Given the description of an element on the screen output the (x, y) to click on. 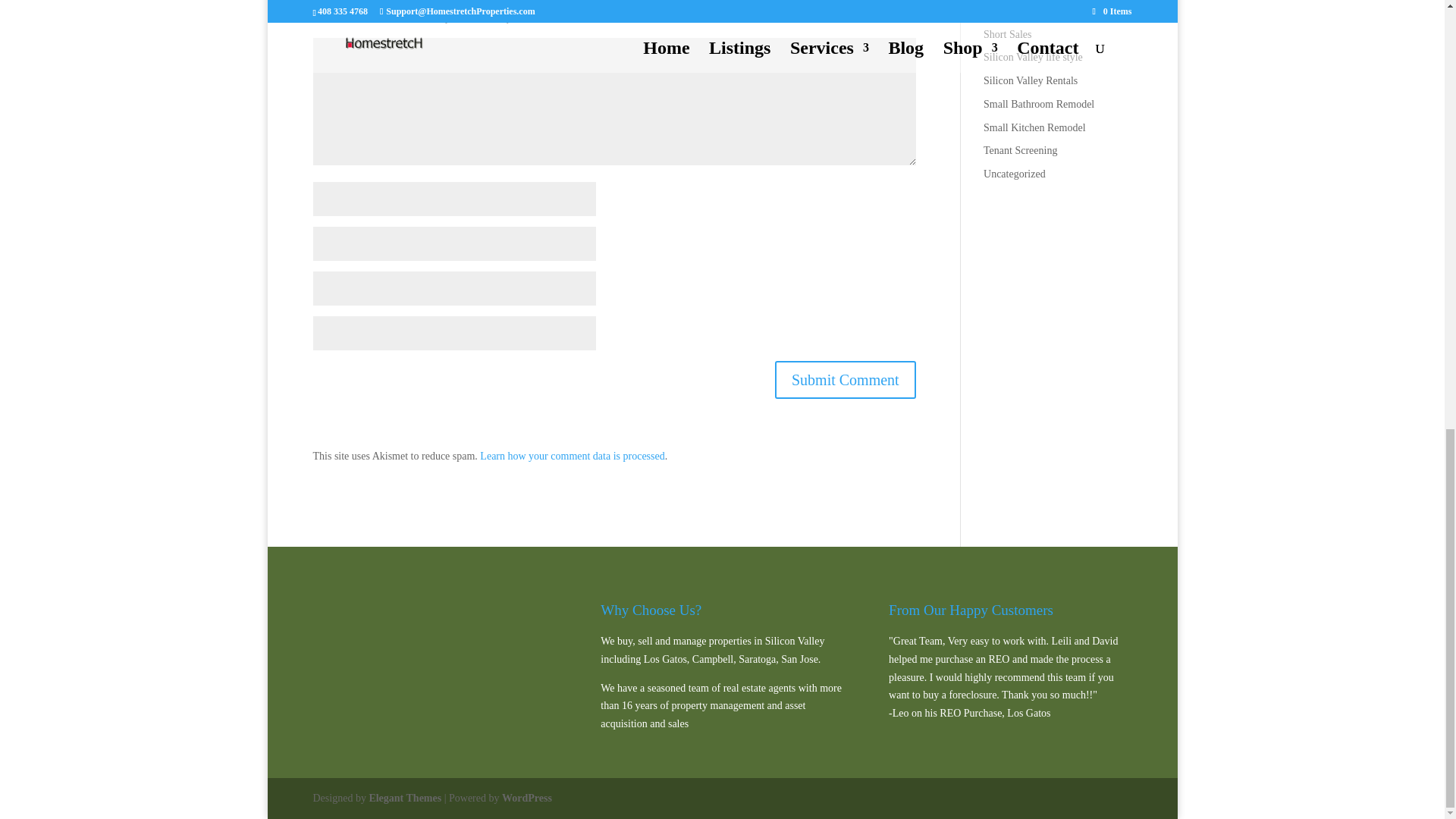
Submit Comment (844, 379)
Learn how your comment data is processed (571, 455)
Submit Comment (844, 379)
Premium WordPress Themes (404, 797)
